Given the description of an element on the screen output the (x, y) to click on. 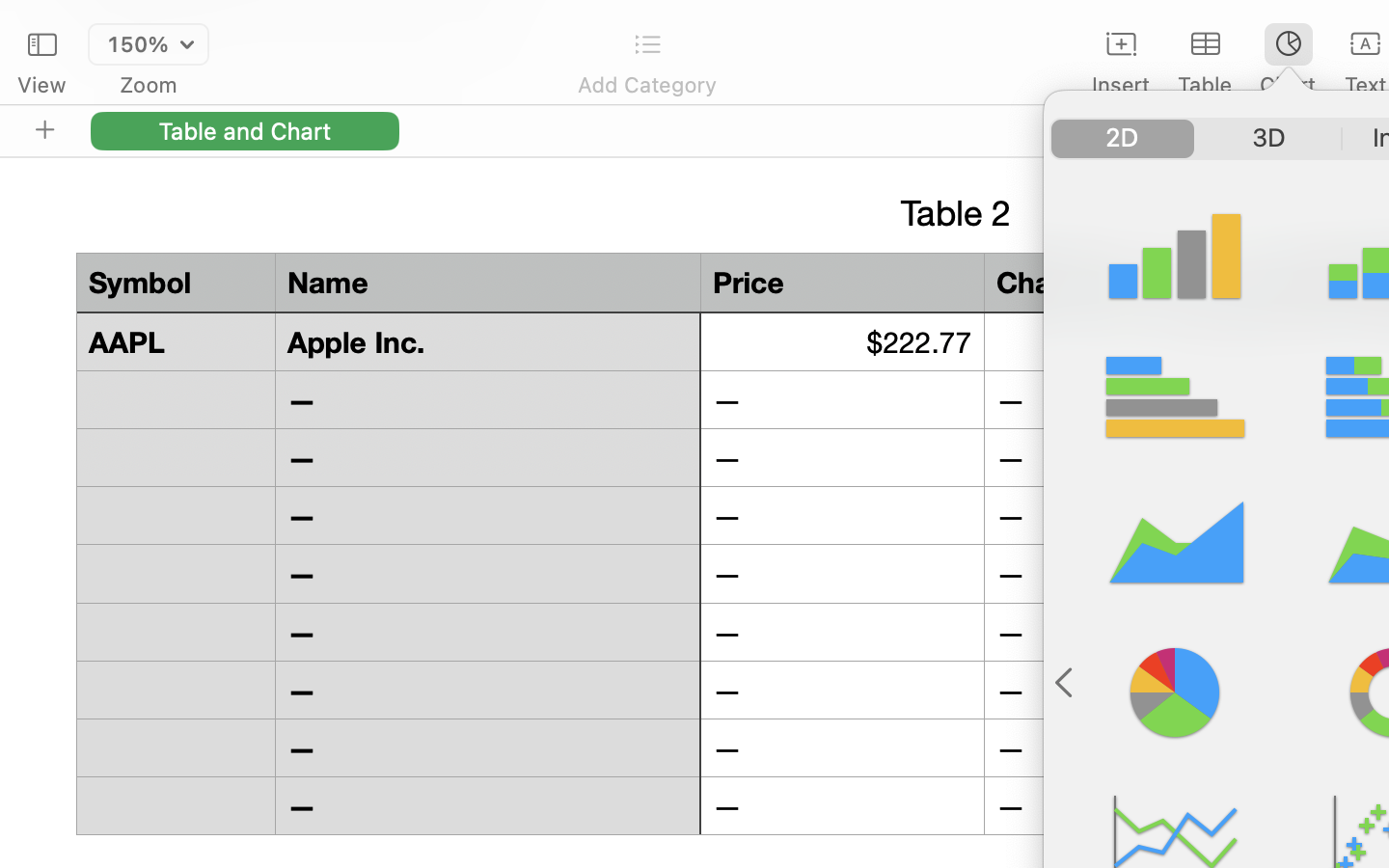
Insert Element type: AXStaticText (1120, 84)
Zoom Element type: AXStaticText (148, 84)
Untitled Element type: AXStaticText (1334, 24)
Add Category Element type: AXStaticText (646, 84)
